Given the description of an element on the screen output the (x, y) to click on. 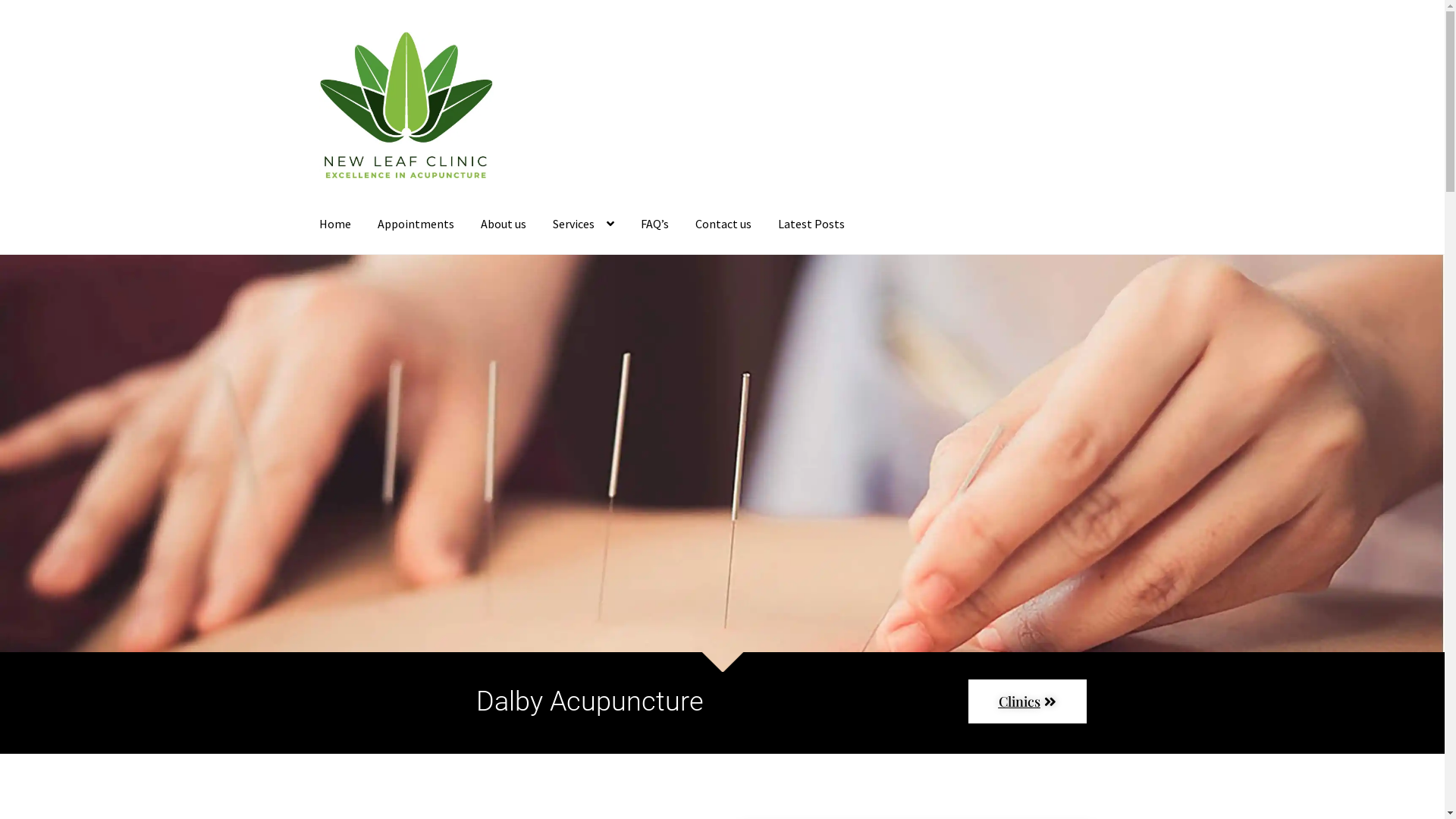
Clinics Element type: text (1026, 701)
Latest Posts Element type: text (810, 224)
Contact us Element type: text (723, 224)
Appointments Element type: text (415, 224)
Services Element type: text (583, 224)
About us Element type: text (503, 224)
Home Element type: text (335, 224)
